Given the description of an element on the screen output the (x, y) to click on. 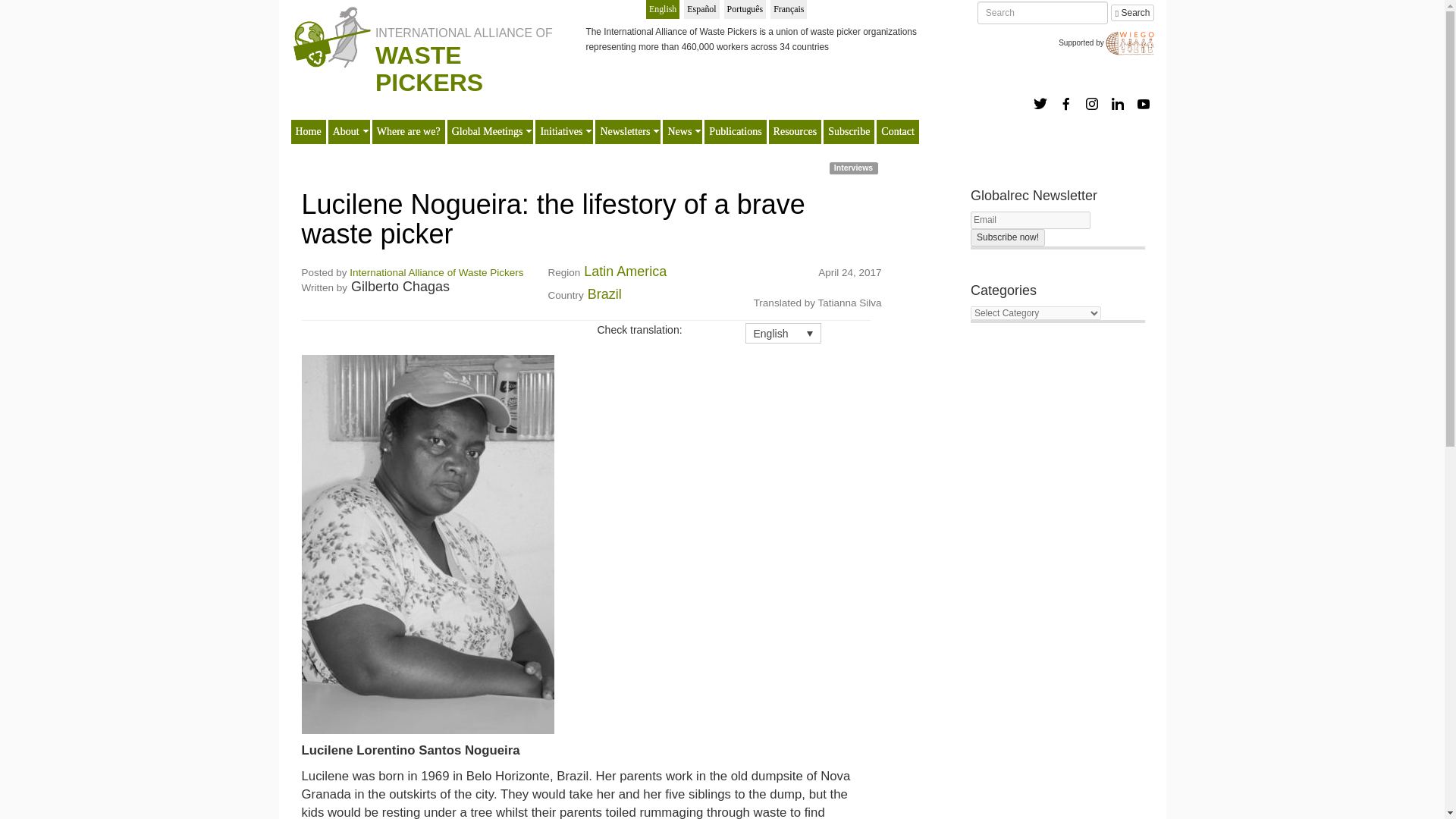
English (662, 9)
Posts by International Alliance of Waste Pickers (435, 244)
View all posts in Interviews (853, 141)
Twitter International Alliance of Waste Pickers (1040, 75)
WIEGO (1125, 37)
News (679, 104)
LinkedIn International Alliance of Waste Pickers (1117, 75)
WIEGO (1125, 37)
Home (307, 104)
Search (1132, 12)
